Given the description of an element on the screen output the (x, y) to click on. 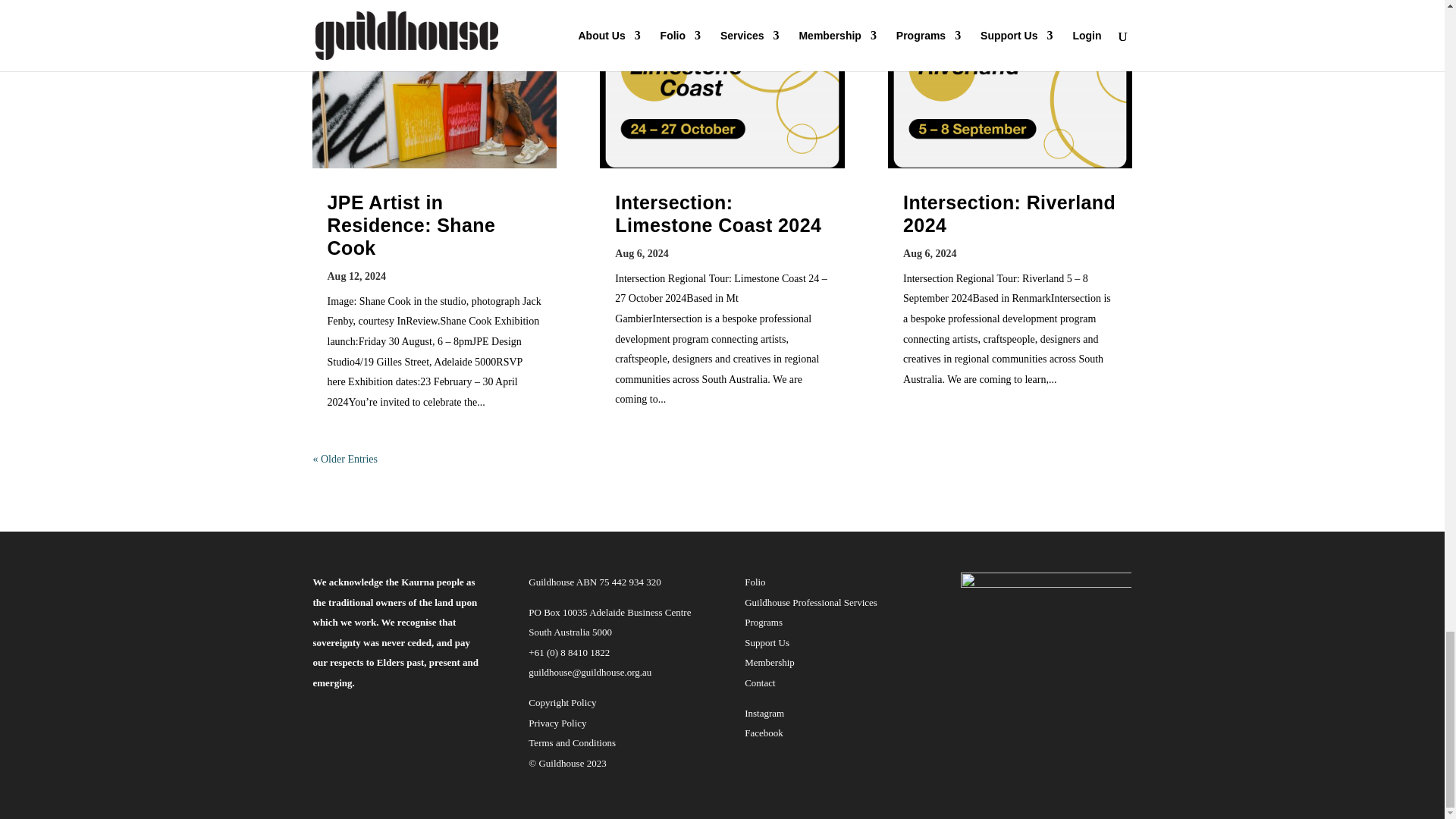
Intersection: Limestone Coast 2024 (717, 213)
JPE Artist in Residence: Shane Cook (411, 224)
Intersection: Riverland 2024 (1008, 213)
